Given the description of an element on the screen output the (x, y) to click on. 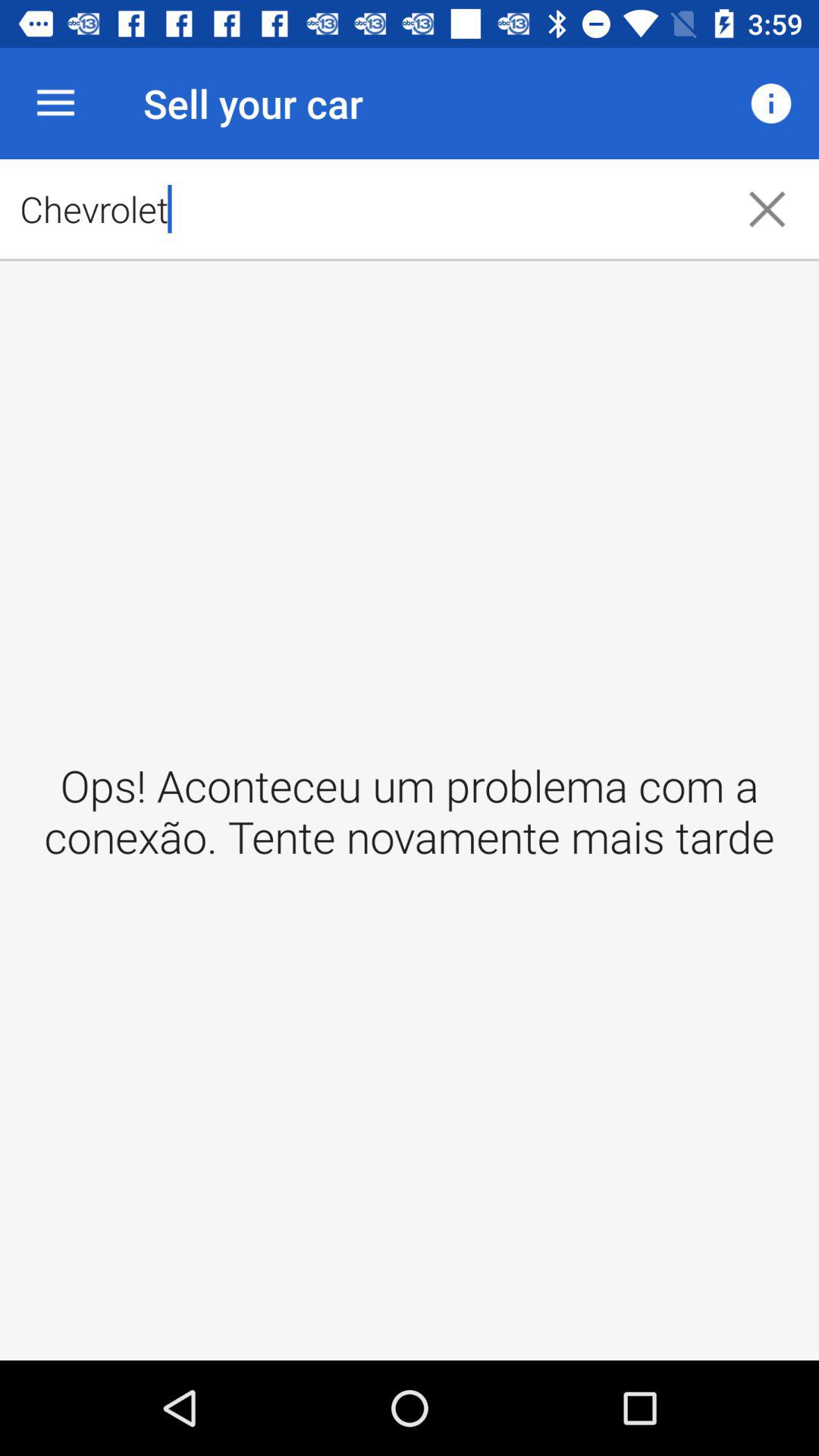
open item to the right of the chevrolet icon (771, 103)
